Given the description of an element on the screen output the (x, y) to click on. 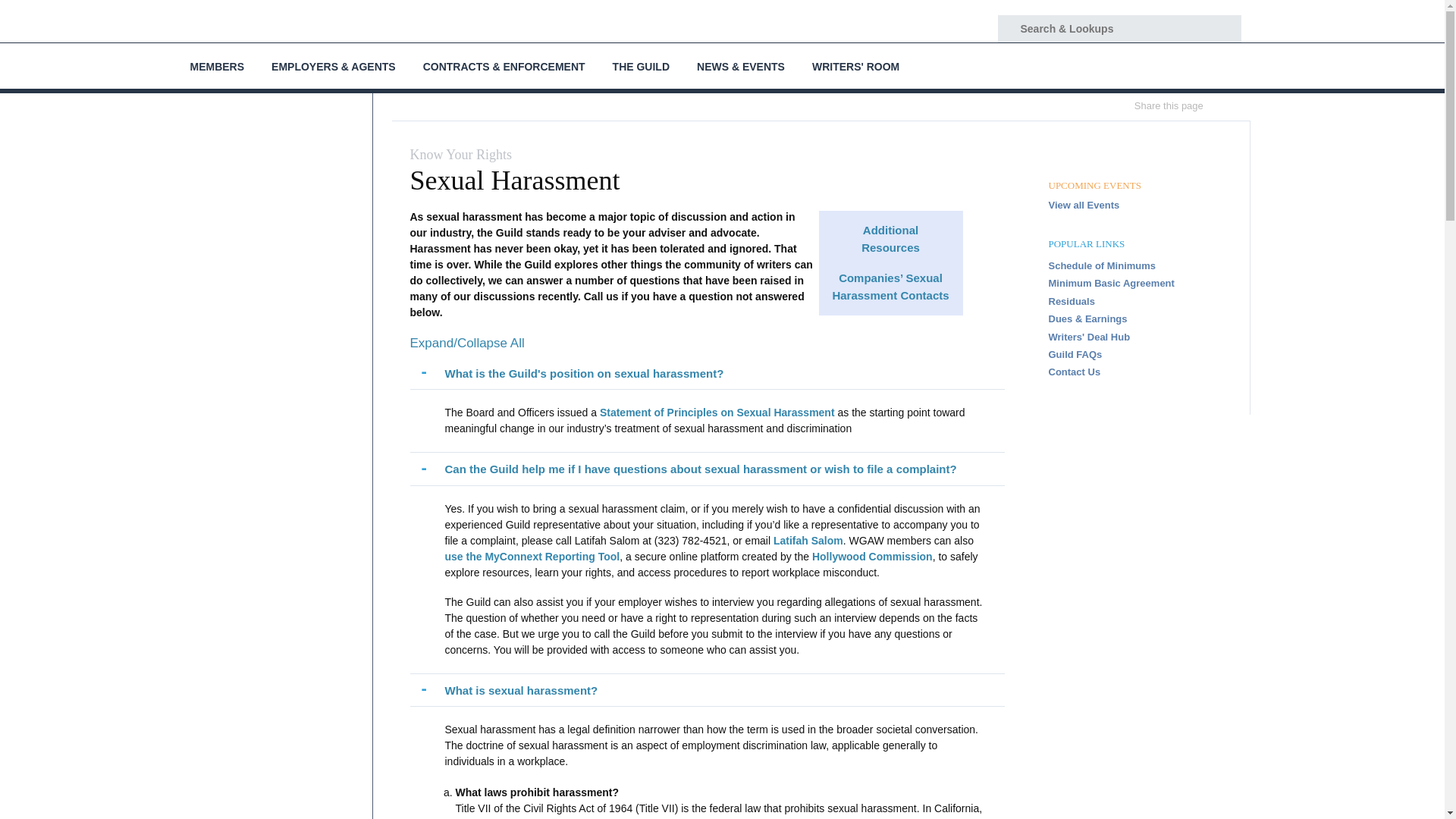
WRITERS' ROOM (854, 65)
THE GUILD (640, 65)
MEMBERS (216, 65)
